Given the description of an element on the screen output the (x, y) to click on. 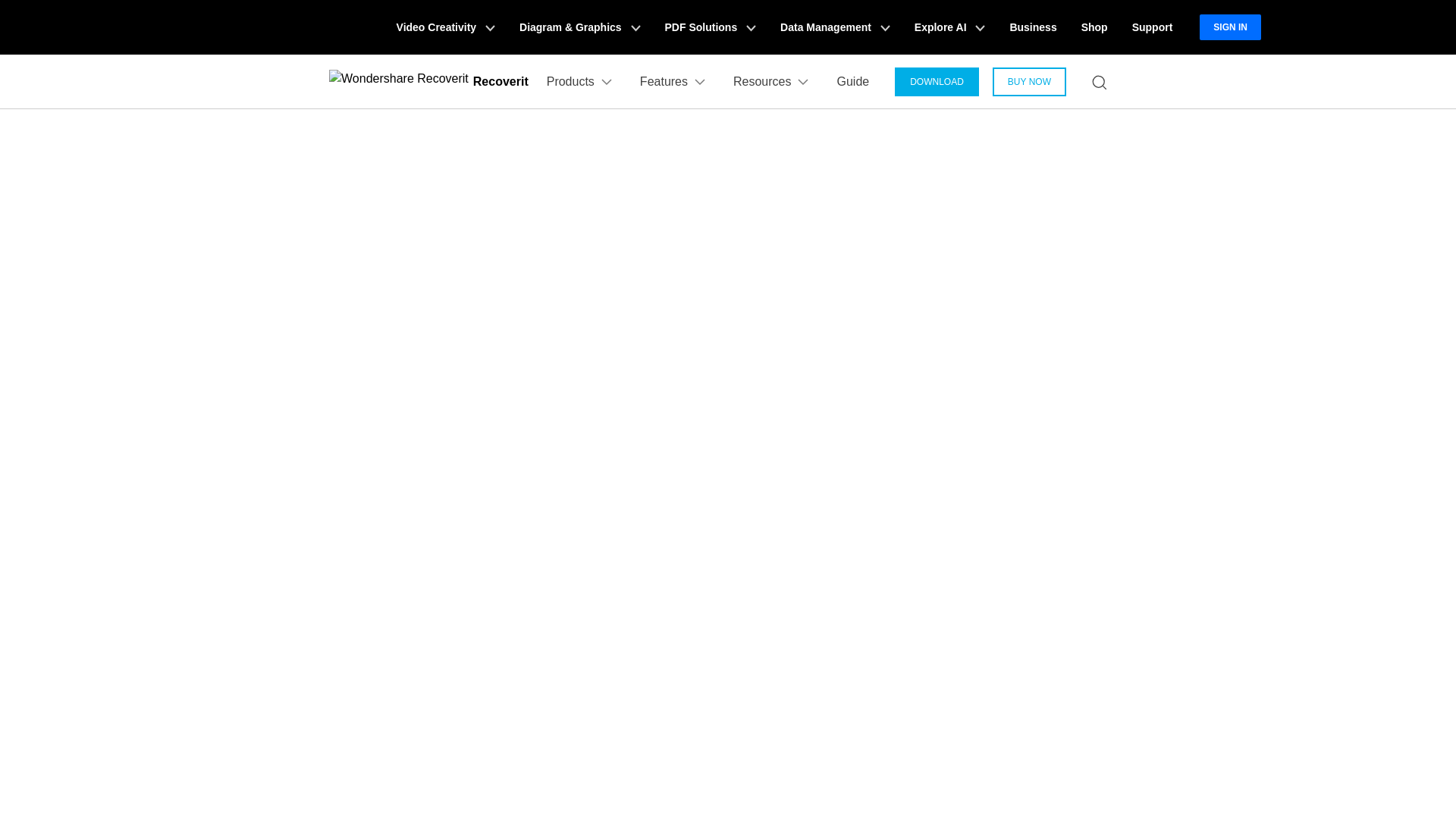
PDF Solutions (710, 27)
Video Creativity (445, 27)
Data Management (835, 27)
Explore AI (949, 27)
Business (1032, 27)
